Given the description of an element on the screen output the (x, y) to click on. 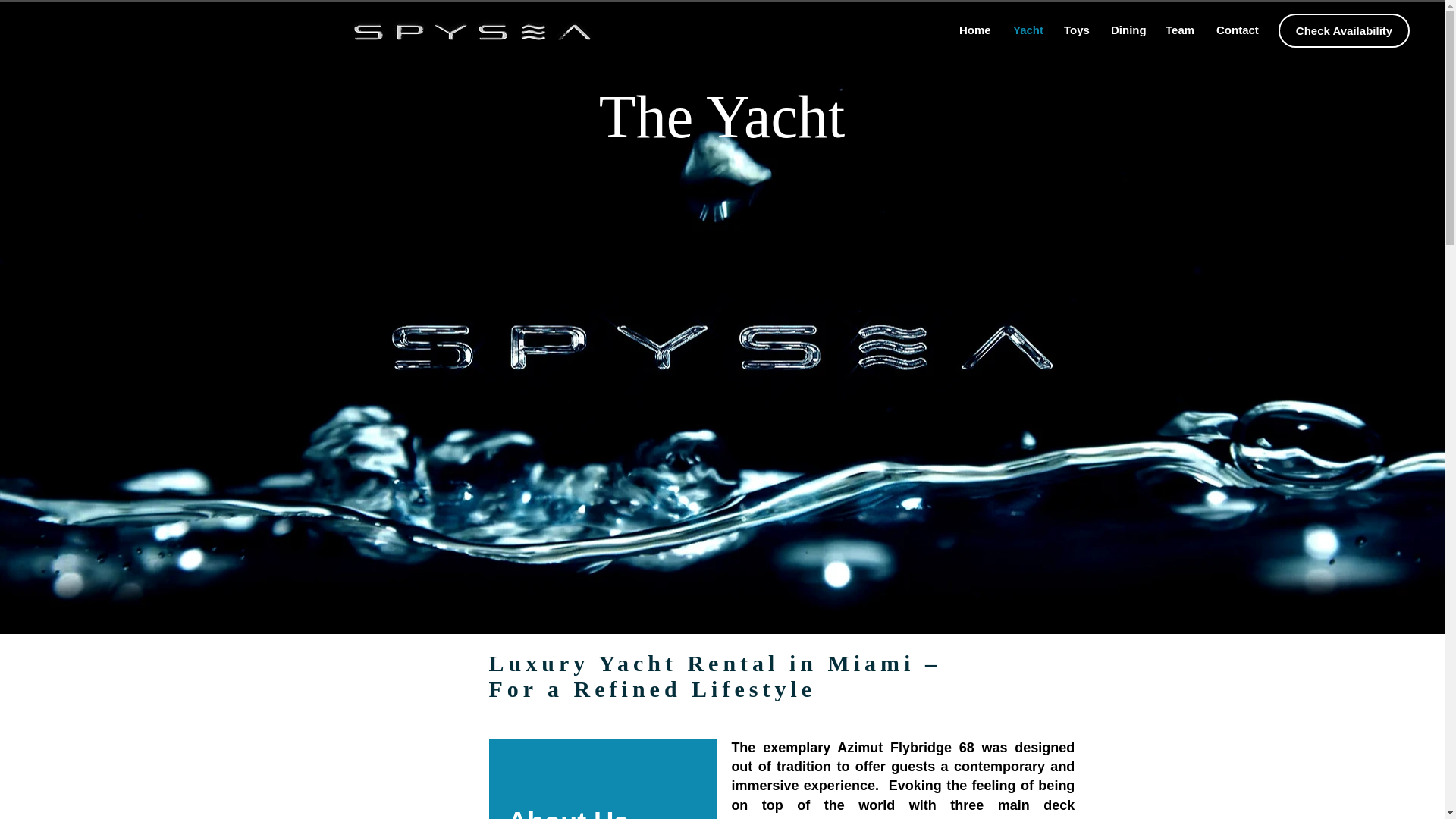
Check Availability (1343, 30)
Home (974, 30)
Toys (1075, 30)
Team (1179, 30)
Yacht (1026, 30)
Dining (1126, 30)
Contact (1236, 30)
